Given the description of an element on the screen output the (x, y) to click on. 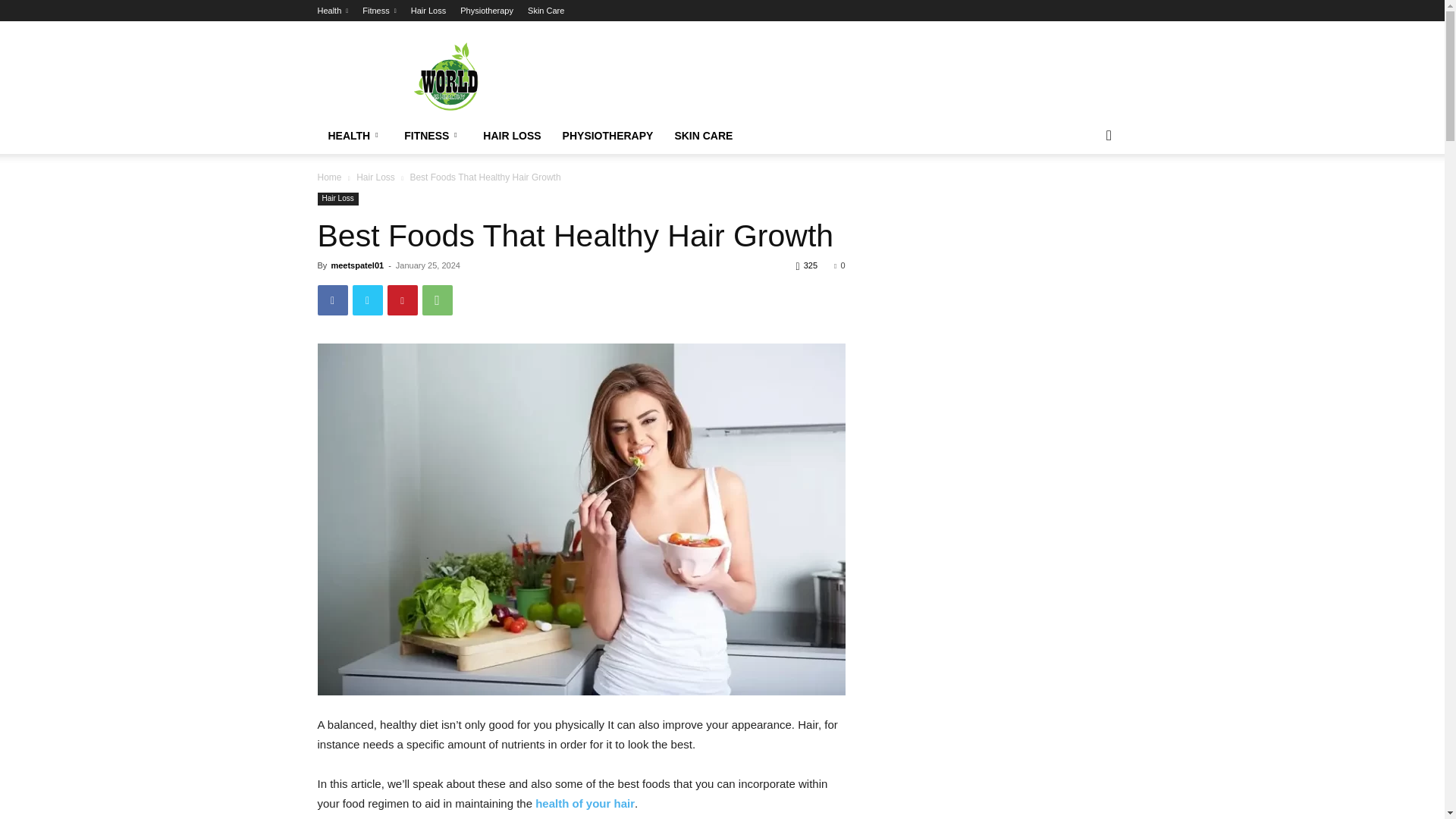
Home (328, 176)
Twitter (366, 300)
Hair Loss (375, 176)
SKIN CARE (702, 135)
PHYSIOTHERAPY (607, 135)
Fitness (379, 10)
FITNESS (432, 135)
Physiotherapy (486, 10)
HAIR LOSS (511, 135)
HEALTH (355, 135)
Search (1085, 196)
Pinterest (401, 300)
WhatsApp (436, 300)
Health (332, 10)
